Given the description of an element on the screen output the (x, y) to click on. 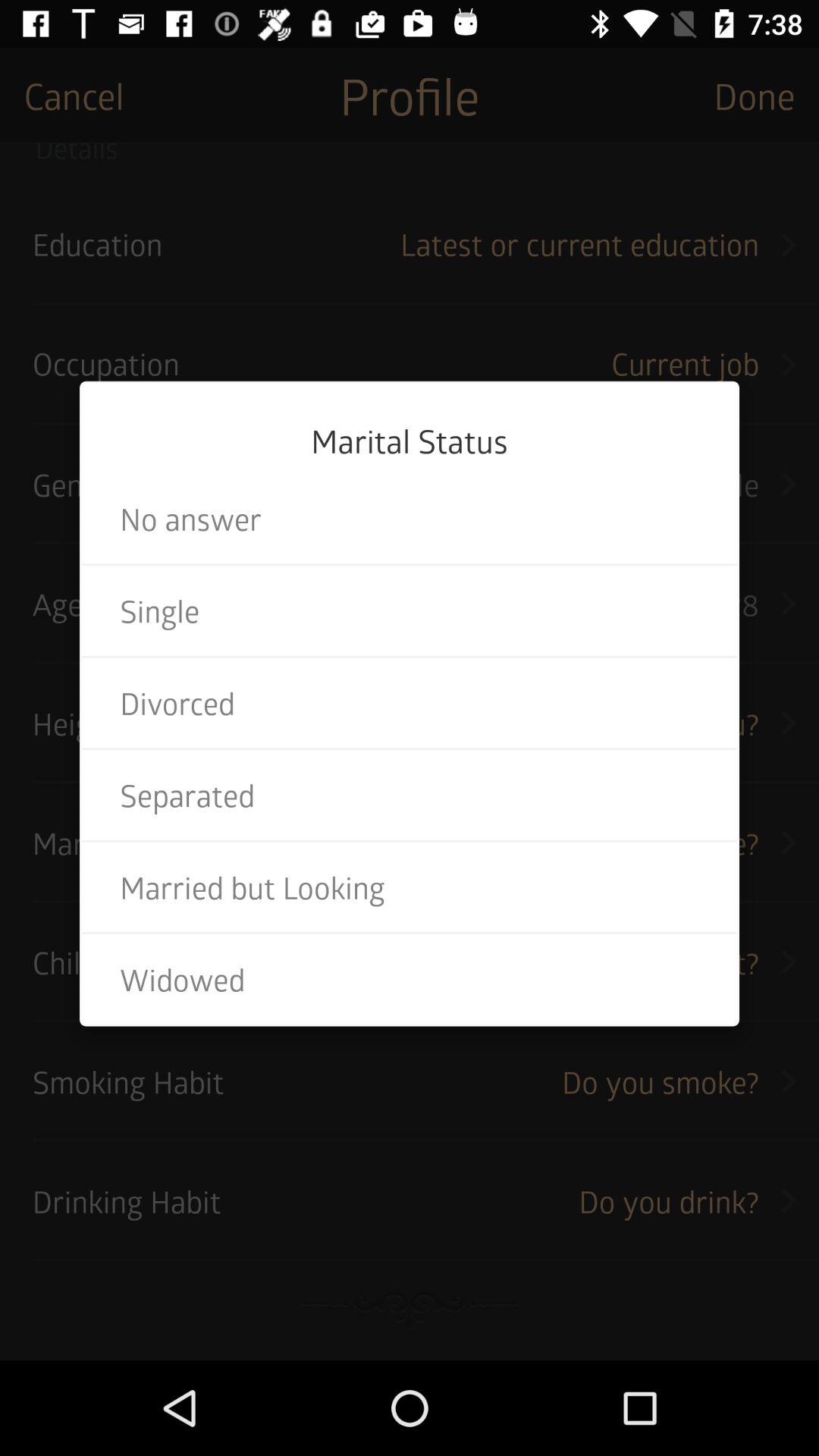
launch item below the separated icon (409, 887)
